Given the description of an element on the screen output the (x, y) to click on. 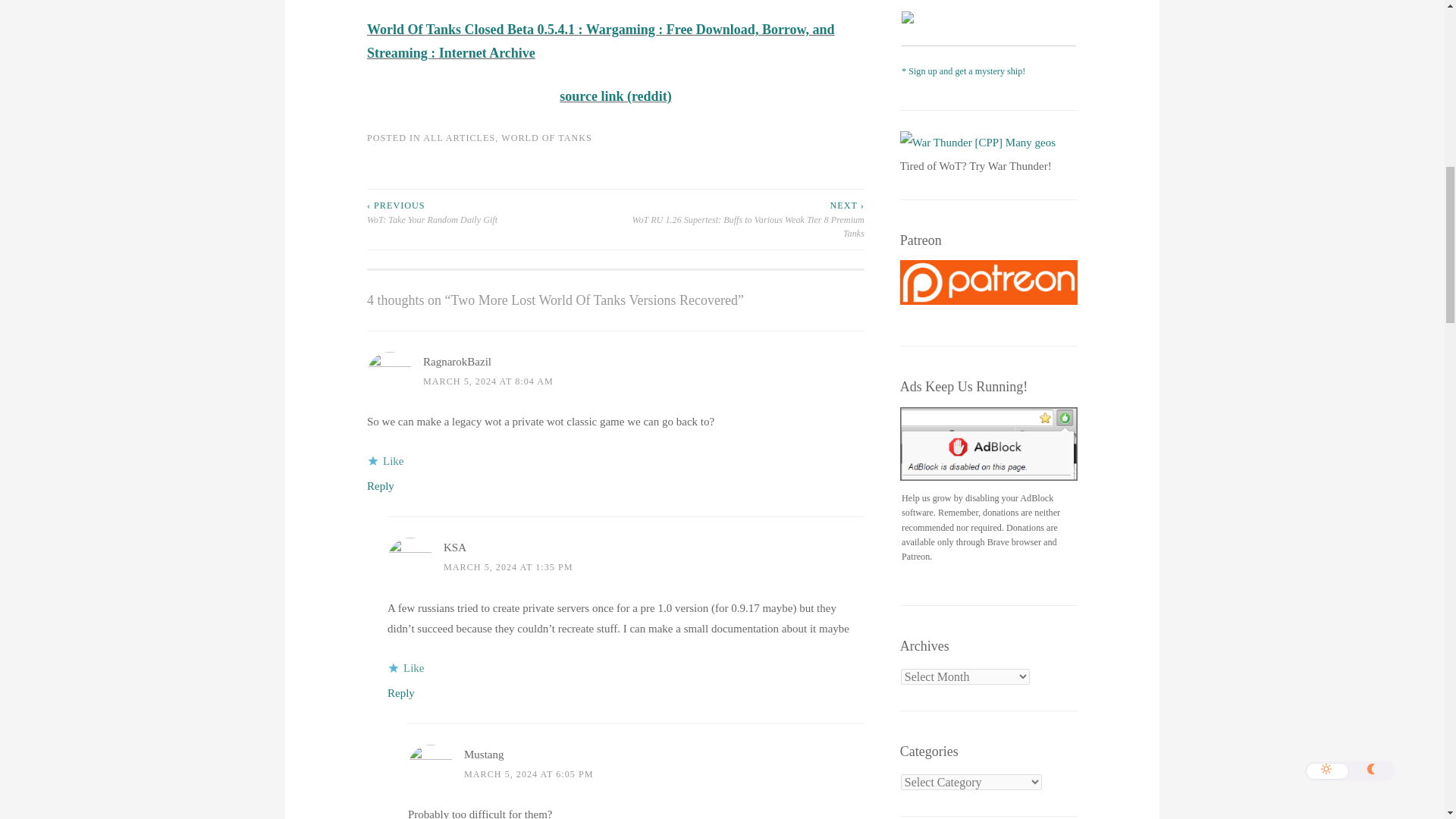
MARCH 5, 2024 AT 6:05 PM (529, 774)
Reply (380, 485)
MARCH 5, 2024 AT 1:35 PM (508, 566)
ALL ARTICLES (459, 137)
WORLD OF TANKS (546, 137)
MARCH 5, 2024 AT 8:04 AM (488, 380)
Ads Keep Us Running! (988, 444)
Reply (400, 693)
